Given the description of an element on the screen output the (x, y) to click on. 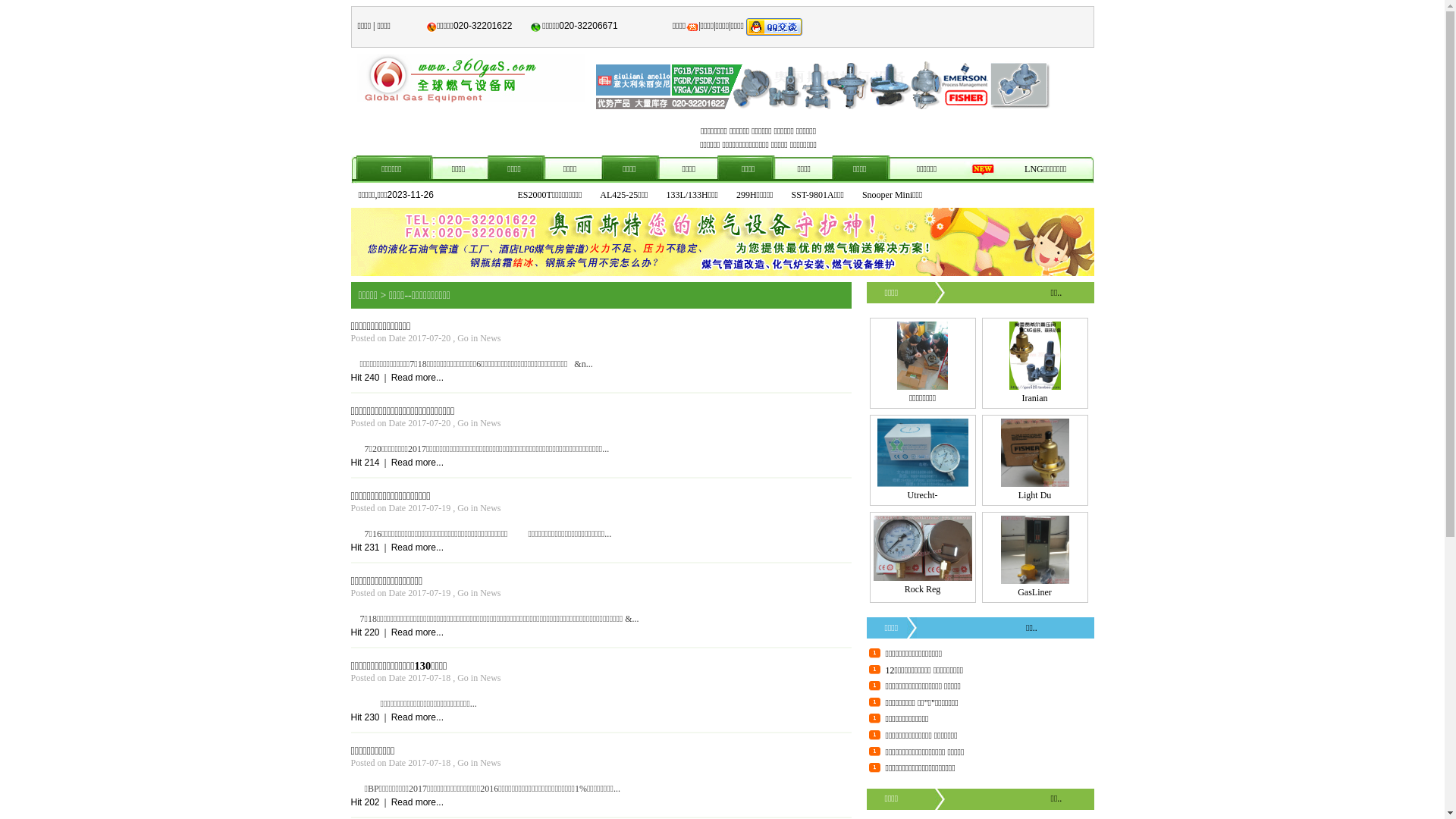
Iranian Event for CNG and Alt-Fuels Draws Near Element type: hover (1034, 386)
Read more... Element type: text (417, 547)
Rock Region METRO Leaves CATA Behind with CNG Buses Element type: hover (922, 577)
240 Element type: text (371, 377)
Hit Element type: text (357, 632)
Hit Element type: text (357, 377)
231 Element type: text (371, 547)
Hit Element type: text (357, 462)
Hit Element type: text (357, 802)
Hit Element type: text (357, 547)
Read more... Element type: text (417, 377)
Read more... Element type: text (417, 462)
202 Element type: text (371, 802)
Read more... Element type: text (417, 717)
214 Element type: text (371, 462)
220 Element type: text (371, 632)
Utrecht-Based Fleet Chooses LNG Element type: hover (921, 483)
230 Element type: text (371, 717)
Read more... Element type: text (417, 802)
Read more... Element type: text (417, 632)
Hit Element type: text (357, 717)
